Given the description of an element on the screen output the (x, y) to click on. 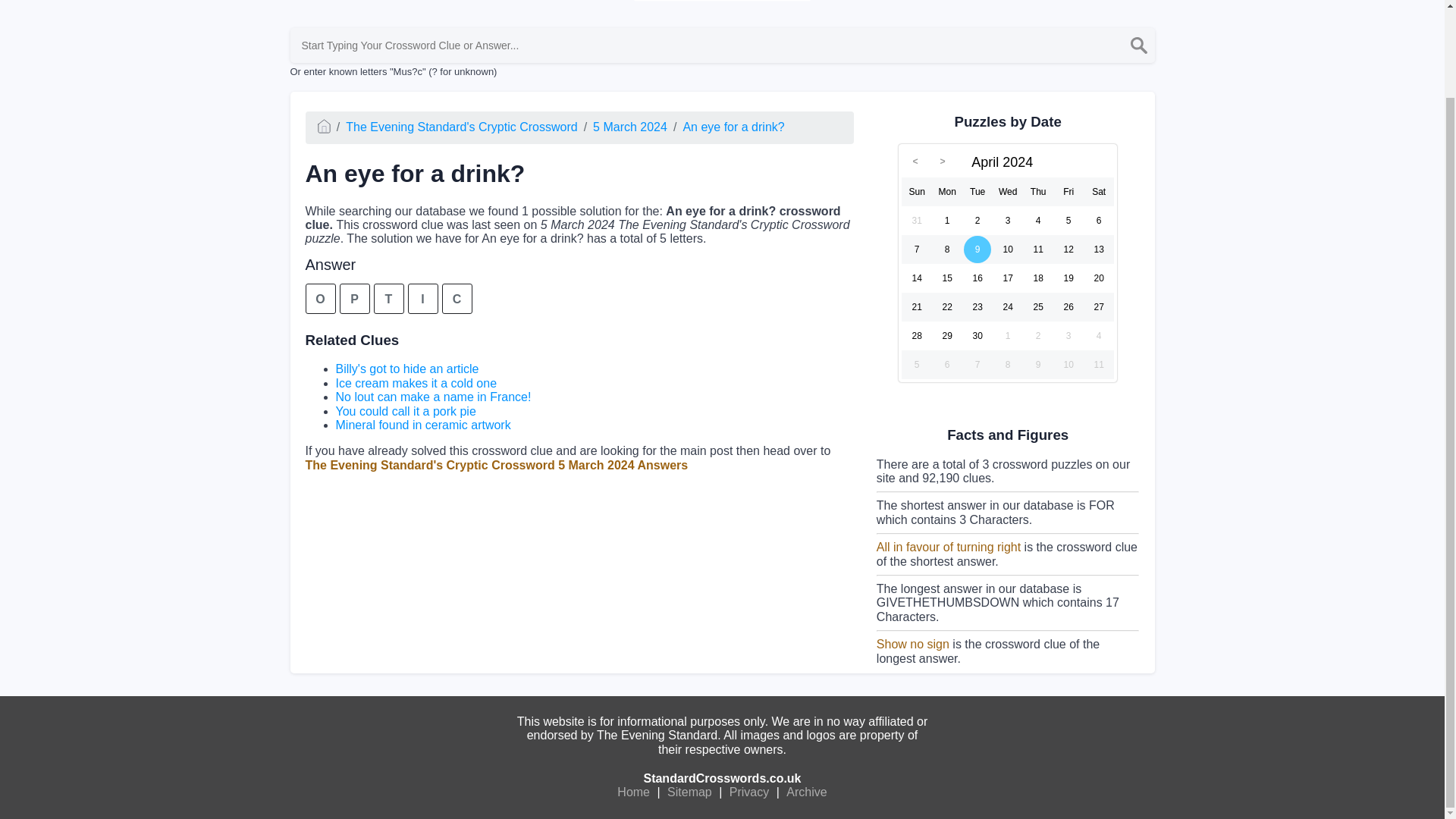
Mineral found in ceramic artwork (422, 424)
Archive (806, 792)
Home (632, 792)
An eye for a drink? (733, 126)
Ice cream makes it a cold one (415, 382)
You could call it a pork pie (405, 410)
All in favour of turning right (948, 546)
The Evening Standard's Cryptic Crossword (461, 126)
Show no sign (912, 644)
